Given the description of an element on the screen output the (x, y) to click on. 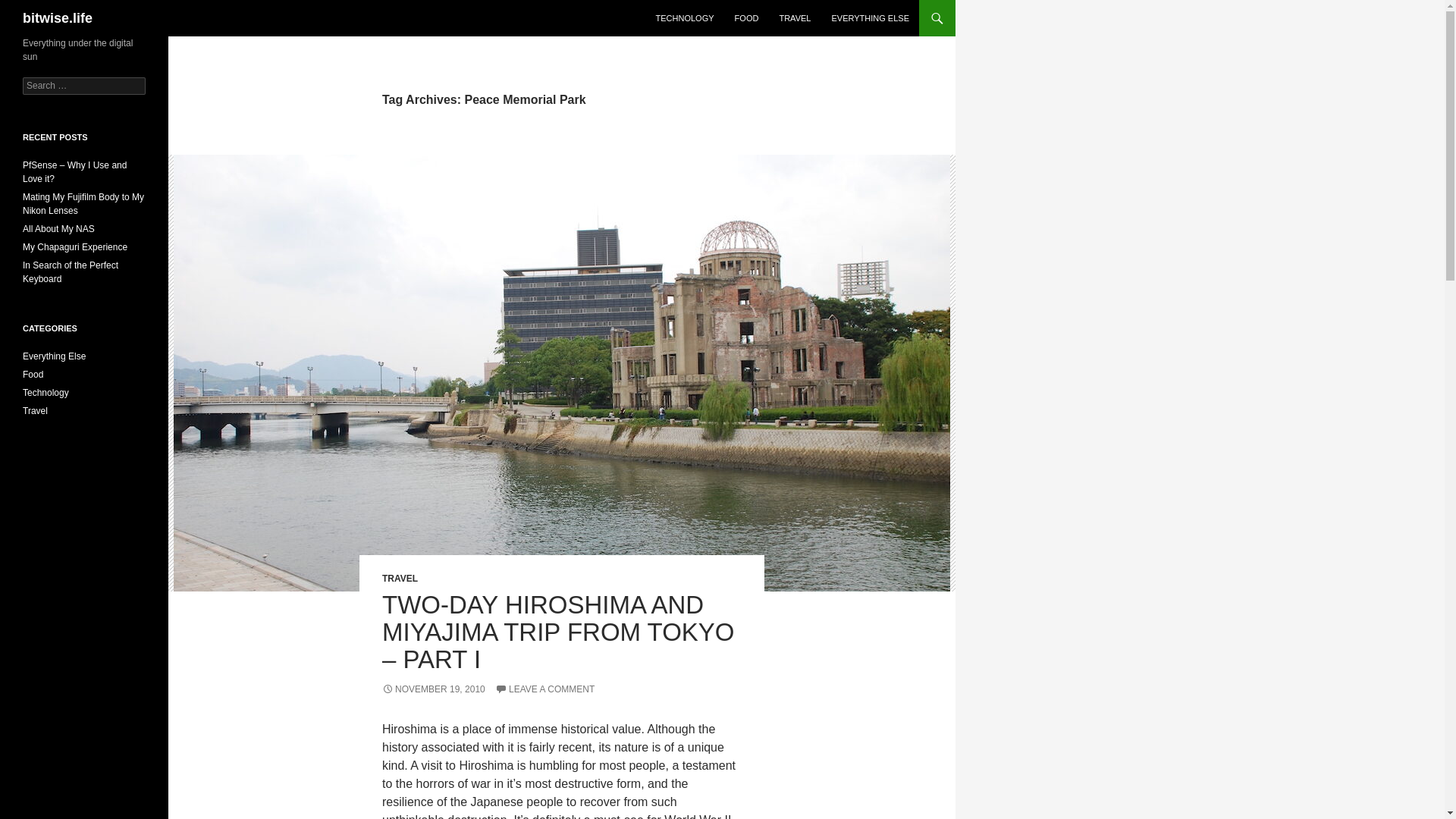
Technology (45, 392)
My Chapaguri Experience (75, 246)
TRAVEL (794, 18)
TRAVEL (399, 578)
Mating My Fujifilm Body to My Nikon Lenses (83, 203)
bitwise.life (58, 18)
All About My NAS (58, 228)
EVERYTHING ELSE (870, 18)
TECHNOLOGY (684, 18)
NOVEMBER 19, 2010 (432, 688)
